Given the description of an element on the screen output the (x, y) to click on. 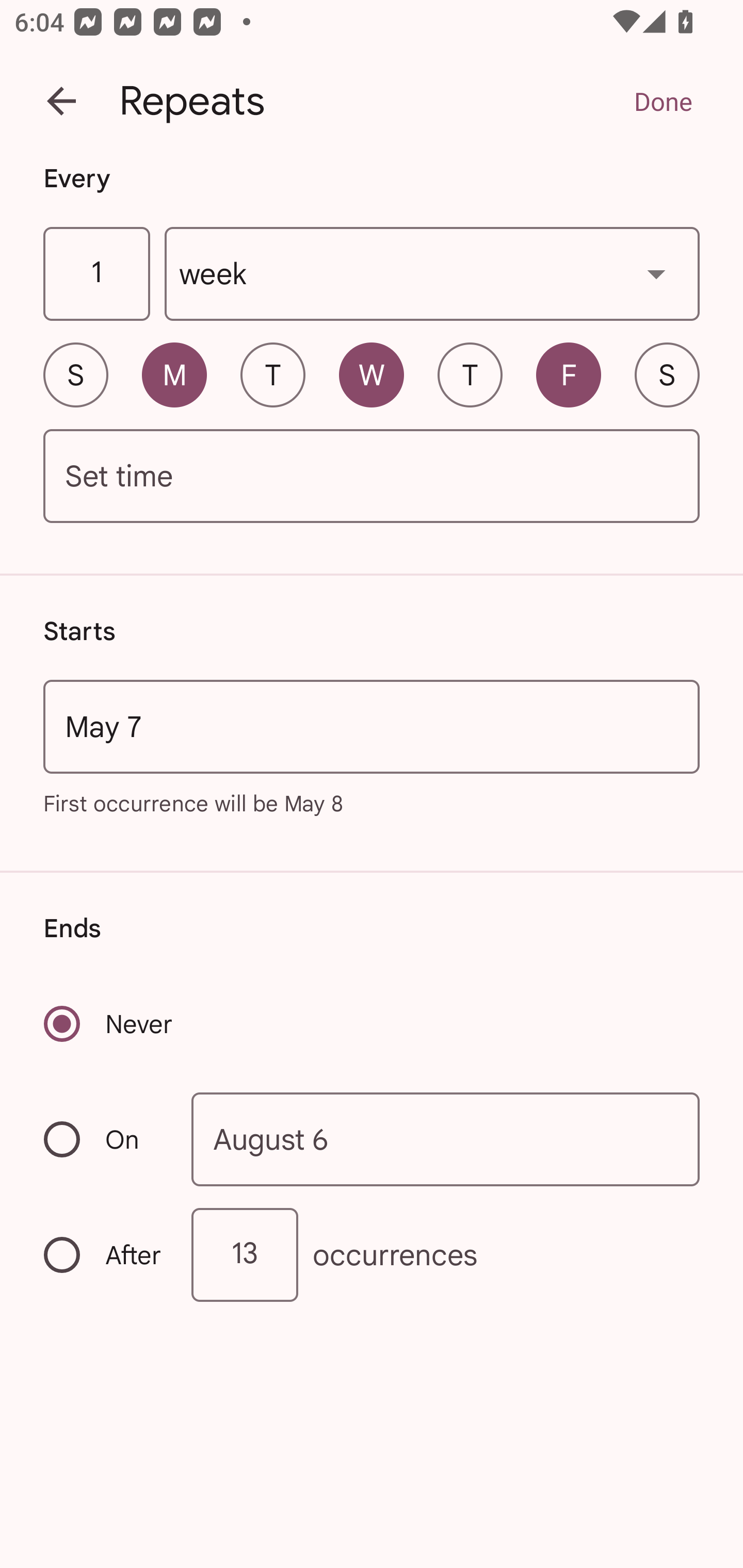
Back (61, 101)
Done (663, 101)
1 (96, 274)
week (431, 274)
Show dropdown menu (655, 273)
S Sunday (75, 374)
M Monday, selected (173, 374)
T Tuesday (272, 374)
W Wednesday, selected (371, 374)
T Thursday (469, 374)
F Friday, selected (568, 374)
S Saturday (666, 374)
Set time (371, 476)
May 7 (371, 726)
Never Recurrence never ends (109, 1023)
August 6 (445, 1139)
On Recurrence ends on a specific date (104, 1138)
13 (244, 1254)
